Given the description of an element on the screen output the (x, y) to click on. 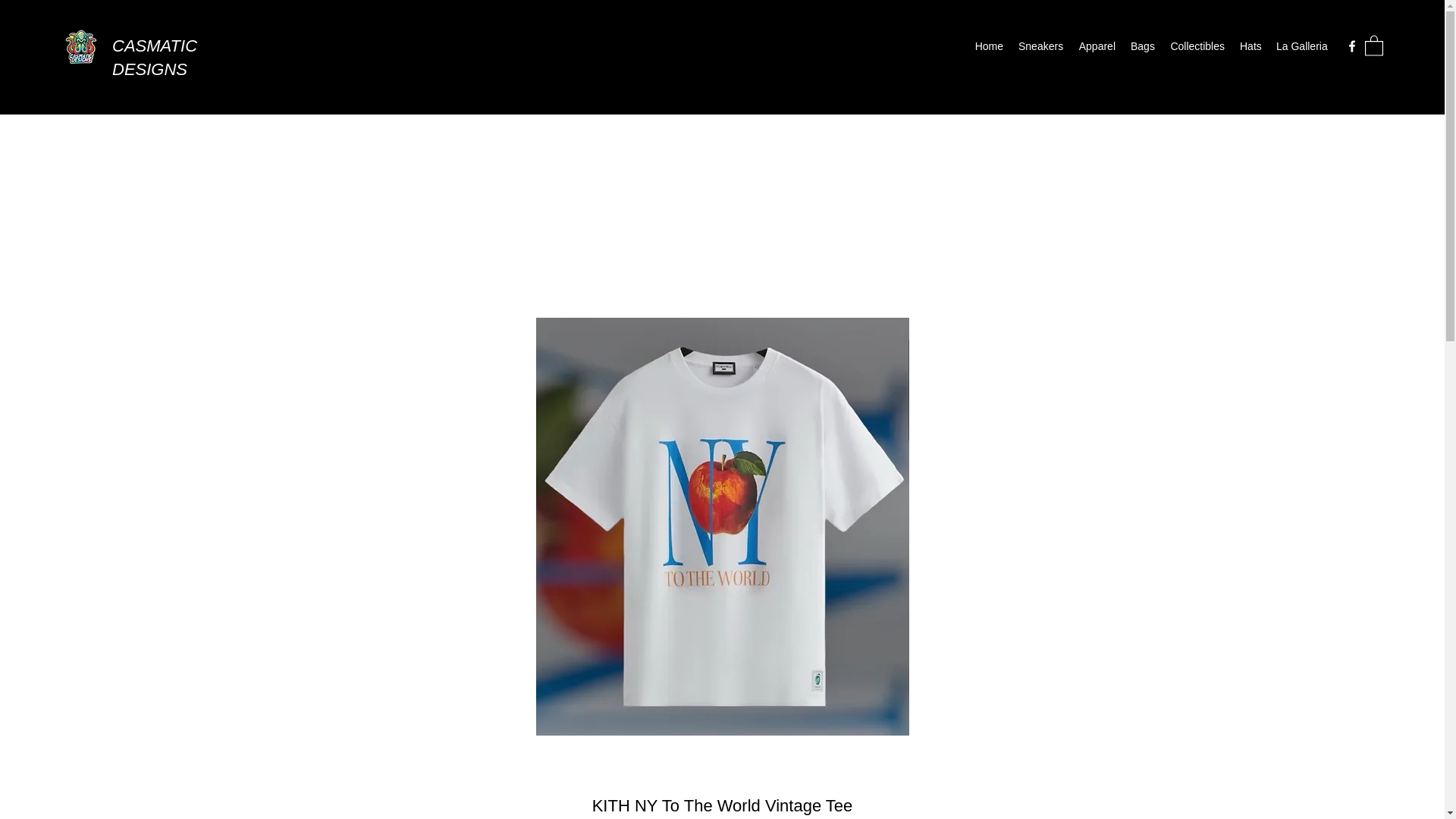
Sneakers (1039, 46)
Collectibles (1196, 46)
La Galleria (1300, 46)
Hats (1249, 46)
Home (988, 46)
Bags (1141, 46)
CASMATIC DESIGNS (154, 57)
Apparel (1095, 46)
